Given the description of an element on the screen output the (x, y) to click on. 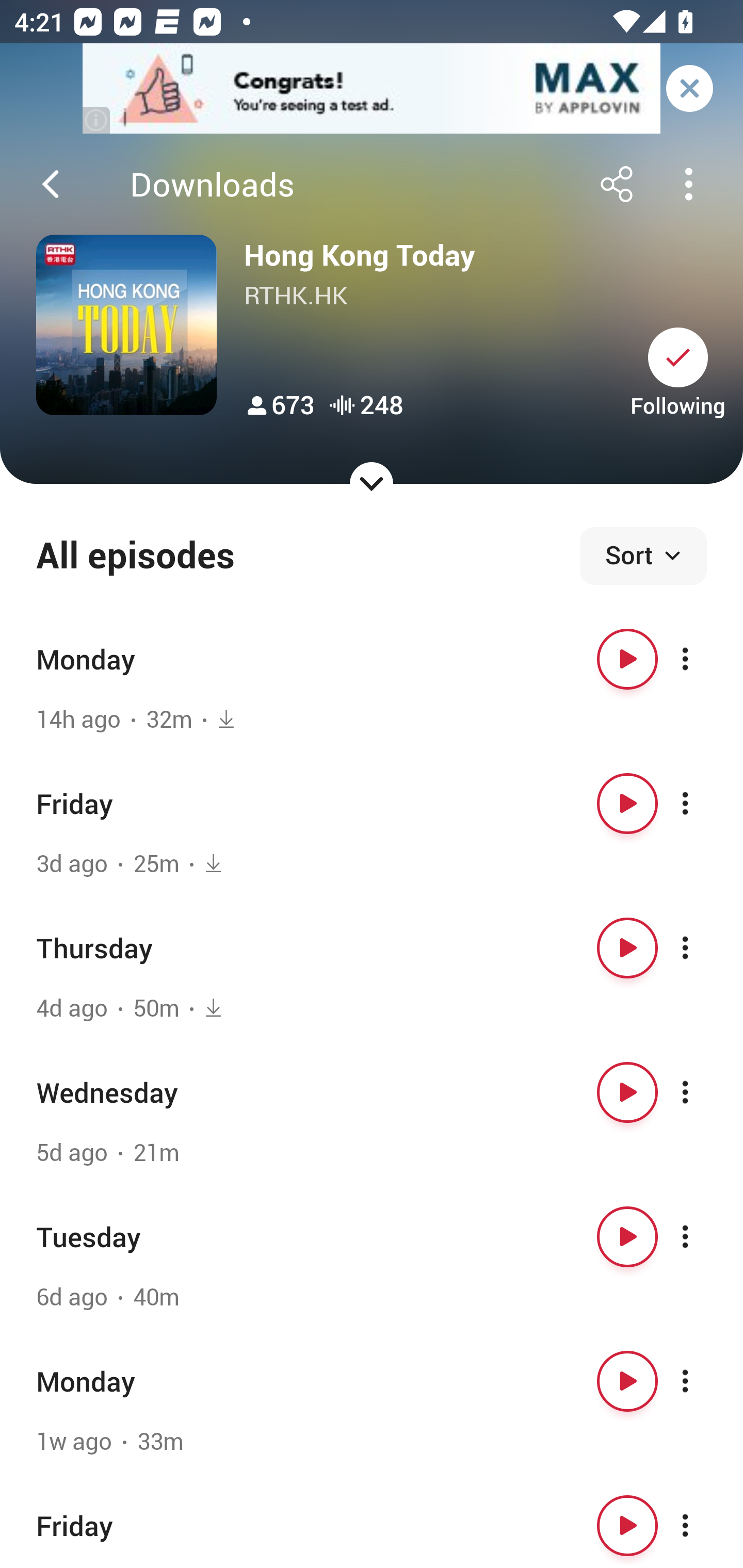
app-monetization (371, 88)
(i) (96, 119)
Back (50, 184)
Unsubscribe button (677, 357)
Sort episodes Sort (643, 555)
Play button (627, 659)
More options (703, 659)
Play button (627, 803)
More options (703, 803)
Play button (627, 947)
More options (703, 947)
Play button (627, 1092)
More options (703, 1092)
Play button (627, 1236)
More options (703, 1236)
Play button (627, 1381)
More options (703, 1381)
Play button (627, 1525)
More options (703, 1525)
